Given the description of an element on the screen output the (x, y) to click on. 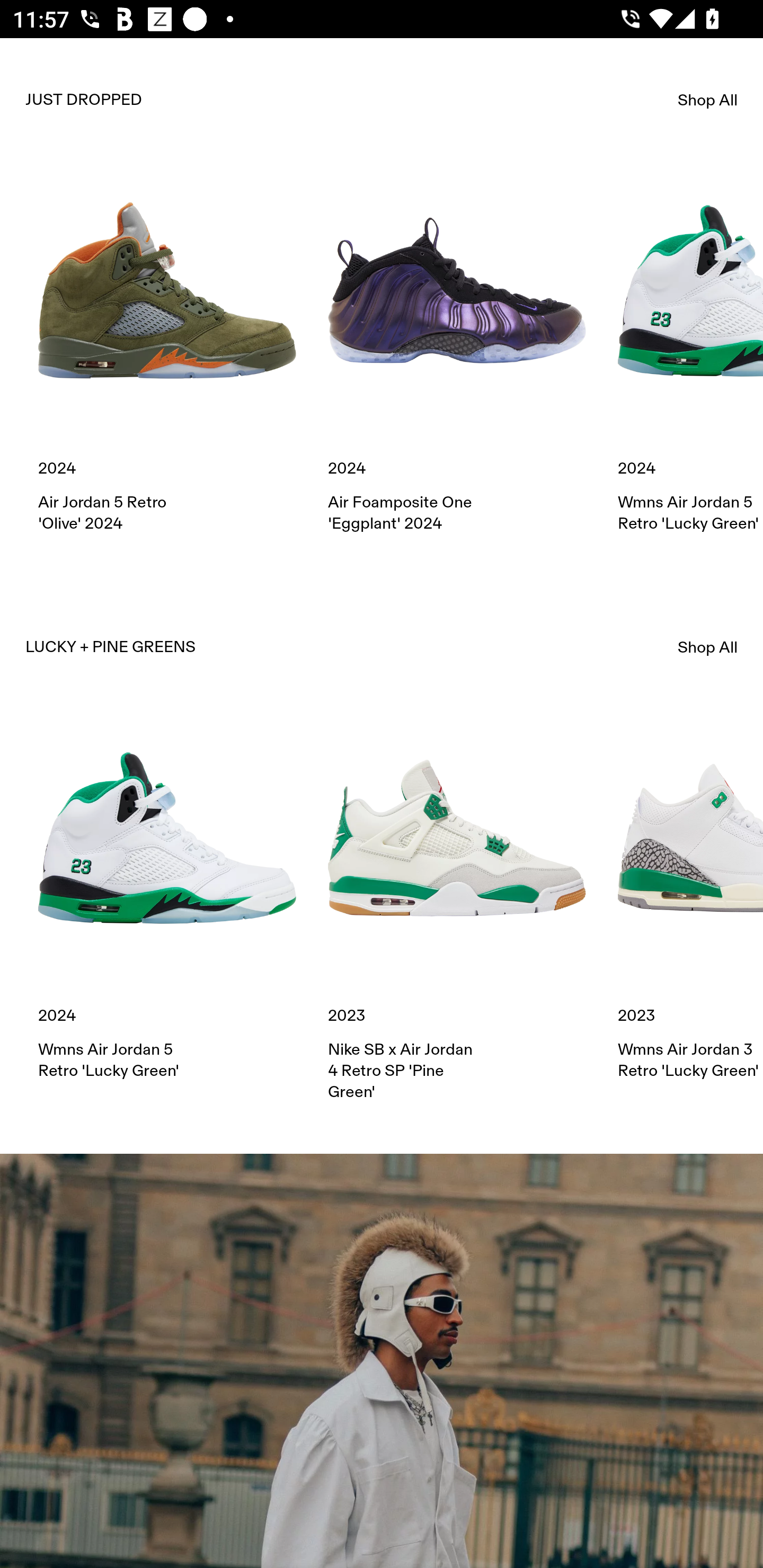
Shop All (707, 100)
2024 Air Jordan 5 Retro 'Olive' 2024 (167, 347)
2024 Air Foamposite One 'Eggplant' 2024 (456, 347)
2024 Wmns Air Jordan 5 Retro 'Lucky Green' (690, 347)
Shop All (707, 647)
2024 Wmns Air Jordan 5 Retro 'Lucky Green' (167, 894)
2023 Nike SB x Air Jordan 4 Retro SP 'Pine Green' (456, 905)
2023 Wmns Air Jordan 3 Retro 'Lucky Green' (690, 894)
